Given the description of an element on the screen output the (x, y) to click on. 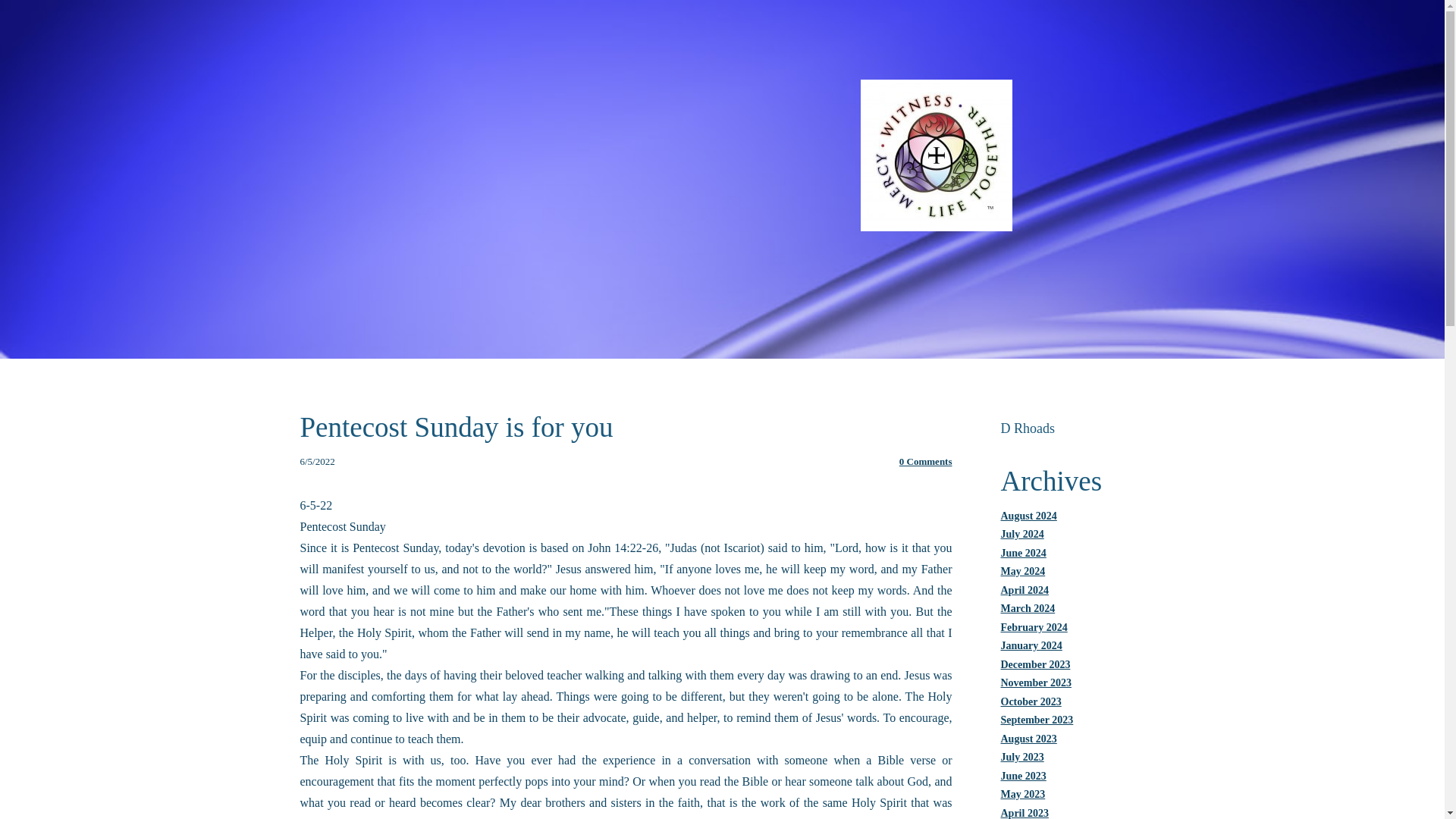
February 2024 (1034, 627)
March 2024 (1028, 608)
Pentecost Sunday is for you (455, 427)
April 2024 (1024, 589)
April 2023 (1024, 812)
May 2023 (1023, 794)
October 2023 (1031, 701)
June 2024 (1023, 552)
December 2023 (1035, 663)
May 2024 (1023, 571)
